Given the description of an element on the screen output the (x, y) to click on. 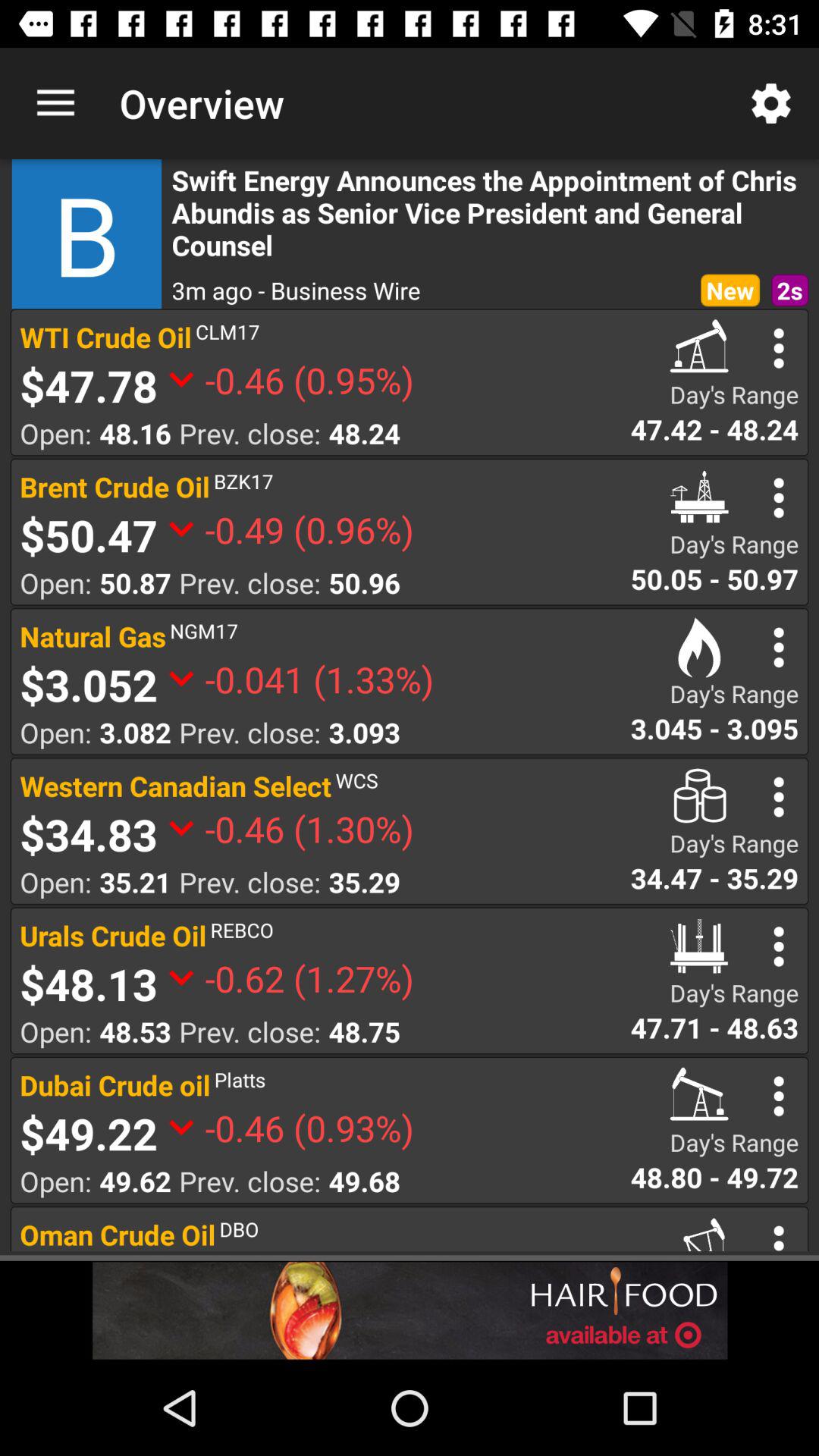
go to search (778, 647)
